Given the description of an element on the screen output the (x, y) to click on. 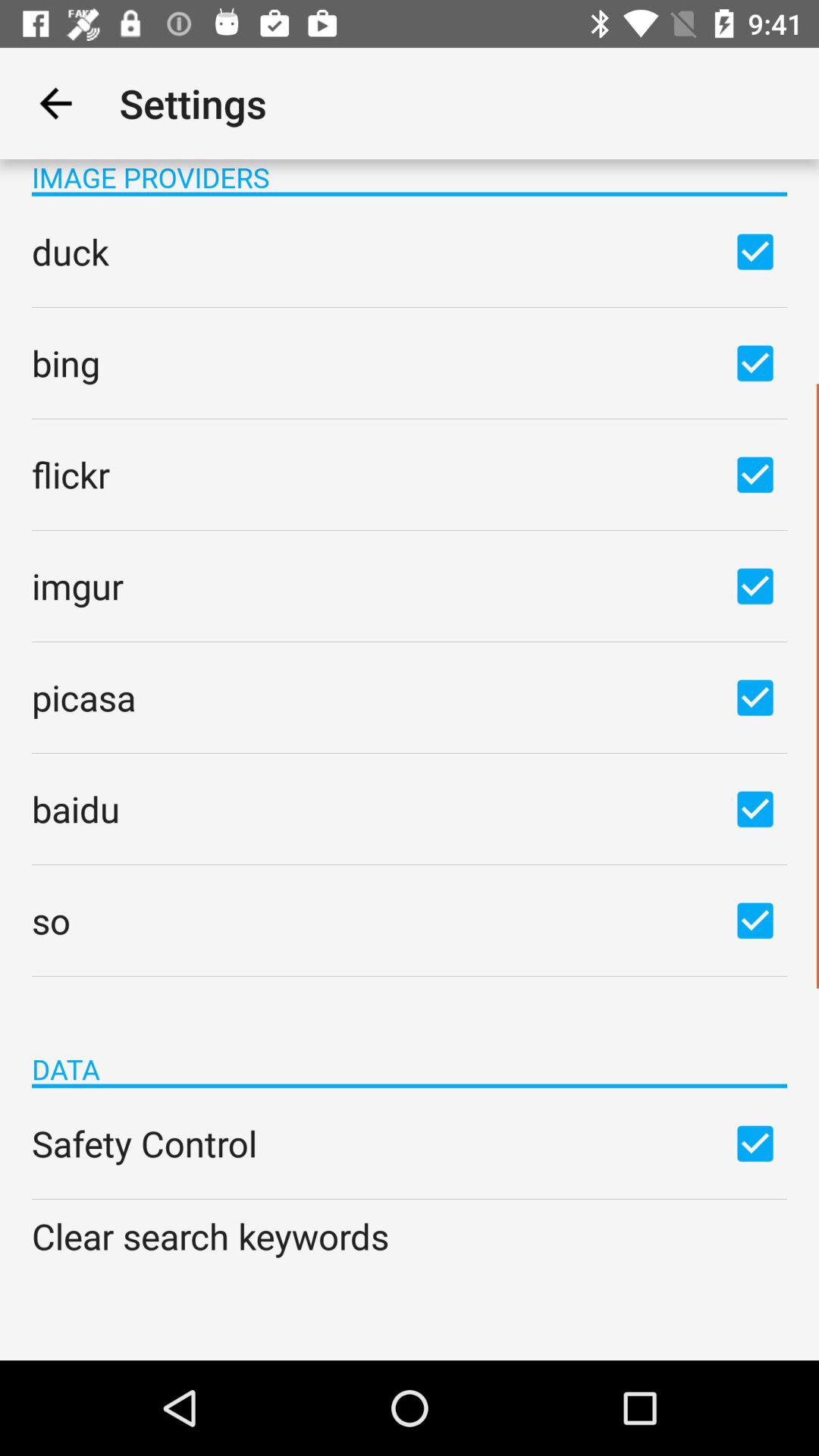
deselect option (755, 251)
